Given the description of an element on the screen output the (x, y) to click on. 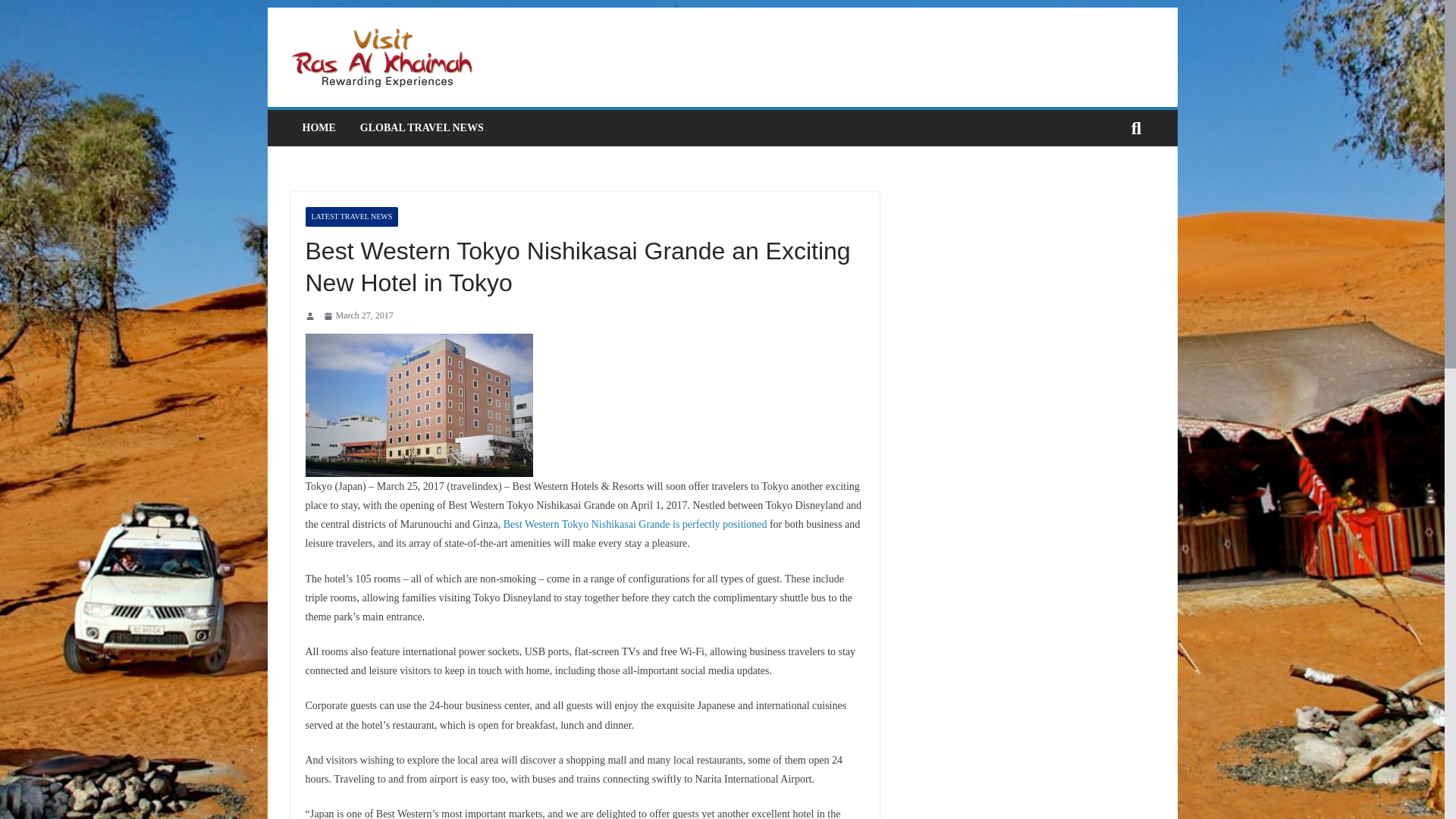
HOME (317, 127)
12:58 am (358, 315)
GLOBAL TRAVEL NEWS (421, 127)
March 27, 2017 (358, 315)
LATEST TRAVEL NEWS (350, 216)
best-western-hotels-tokyo-hotels-japan-best-med-scale-hotel (418, 404)
Best Western Tokyo Nishikasai Grande is perfectly positioned (635, 523)
